Given the description of an element on the screen output the (x, y) to click on. 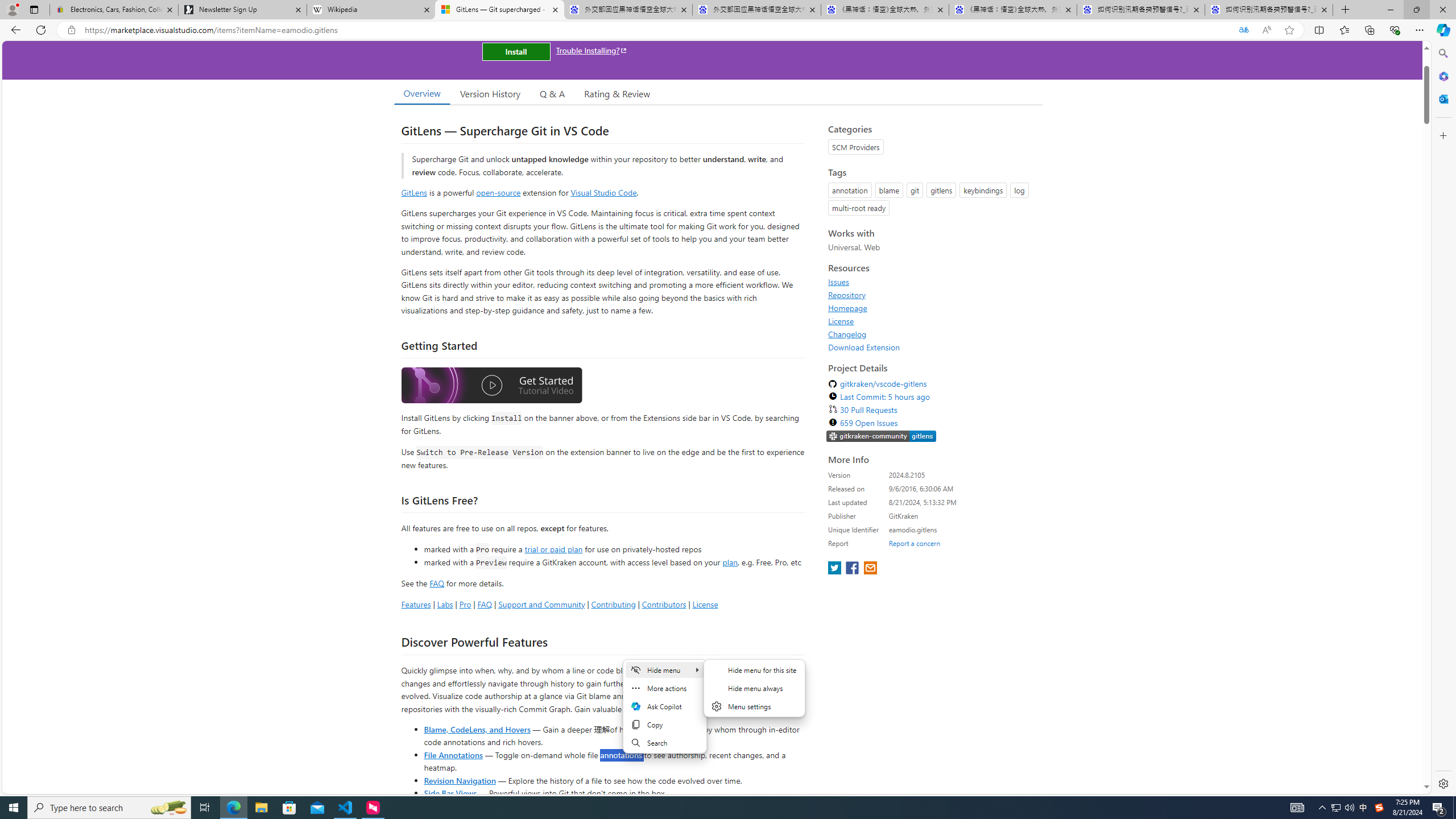
Version History (489, 92)
Mini menu on text selection (664, 706)
Revision Navigation (459, 780)
share extension on email (869, 568)
Side Bar Views (449, 792)
